Given the description of an element on the screen output the (x, y) to click on. 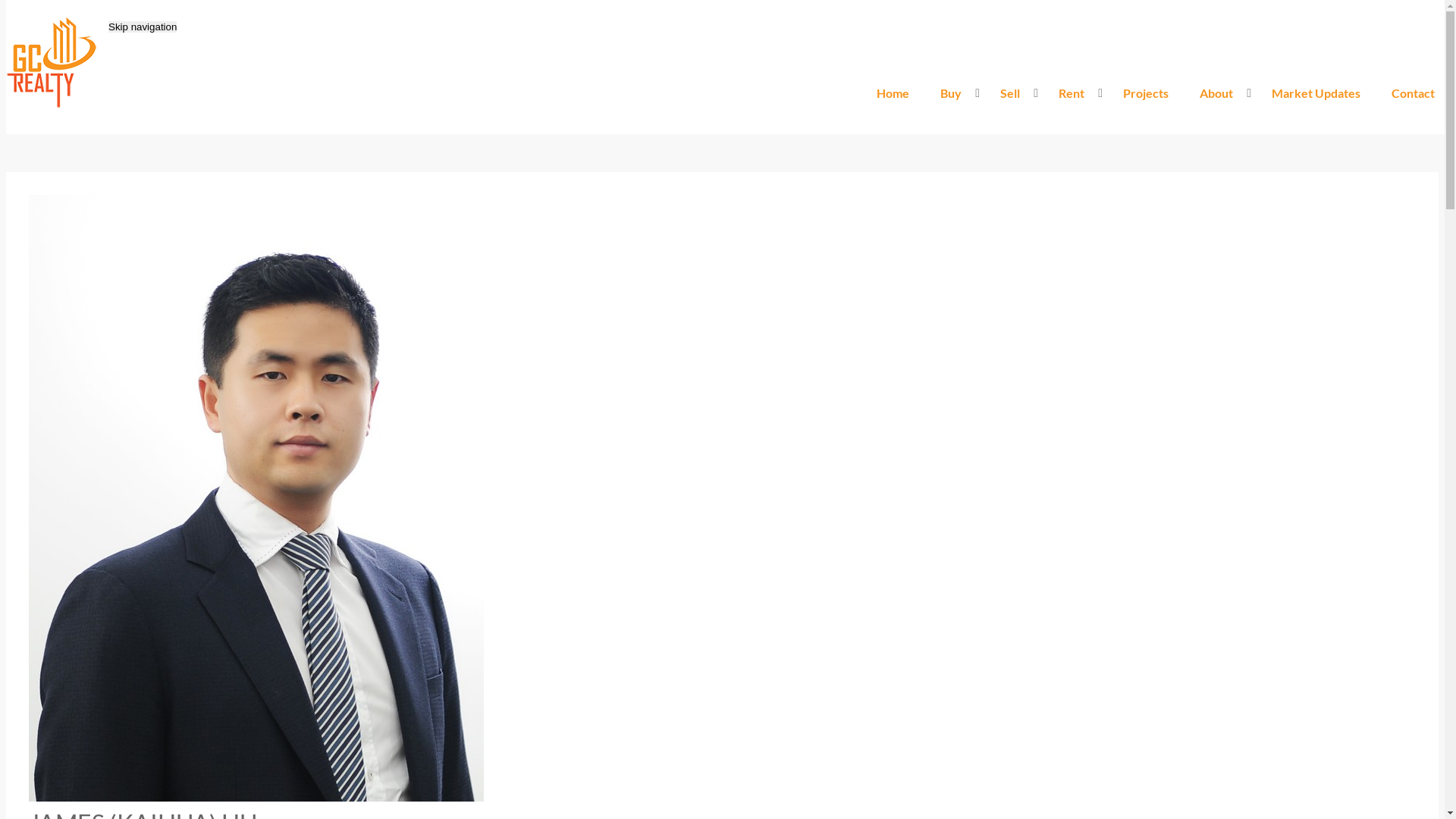
Buy Element type: text (954, 92)
Home Element type: text (892, 92)
Projects Element type: text (1145, 92)
Skip navigation Element type: text (142, 26)
Contact Element type: text (1412, 92)
Rent Element type: text (1075, 92)
Market Updates Element type: text (1315, 92)
Sell Element type: text (1013, 92)
About Element type: text (1219, 92)
